Given the description of an element on the screen output the (x, y) to click on. 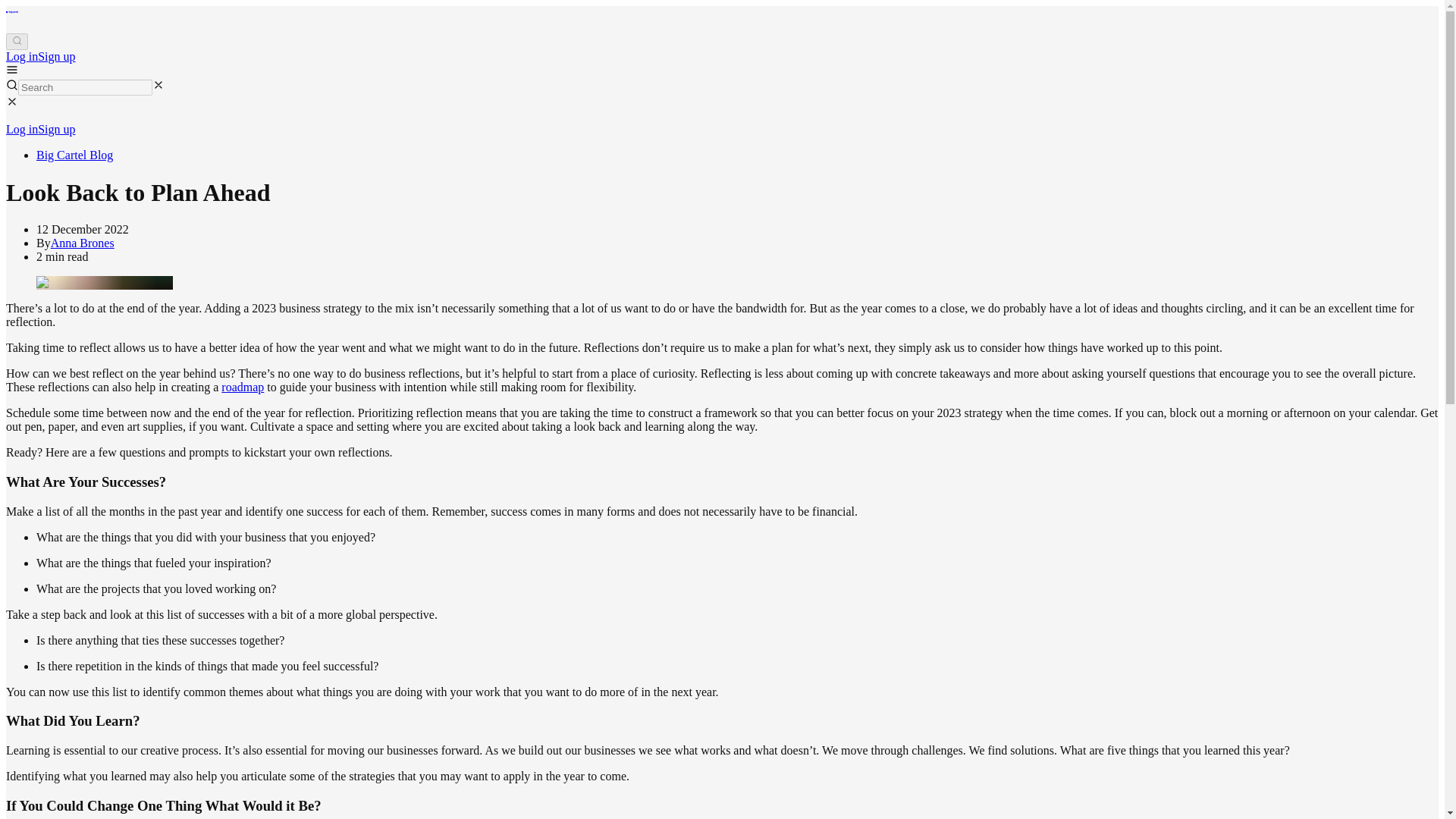
roadmap (242, 386)
Big Cartel Blog (74, 154)
Sign up (56, 56)
Anna Brones (82, 242)
Log in (21, 56)
Log in (21, 128)
Sign up (56, 128)
